Given the description of an element on the screen output the (x, y) to click on. 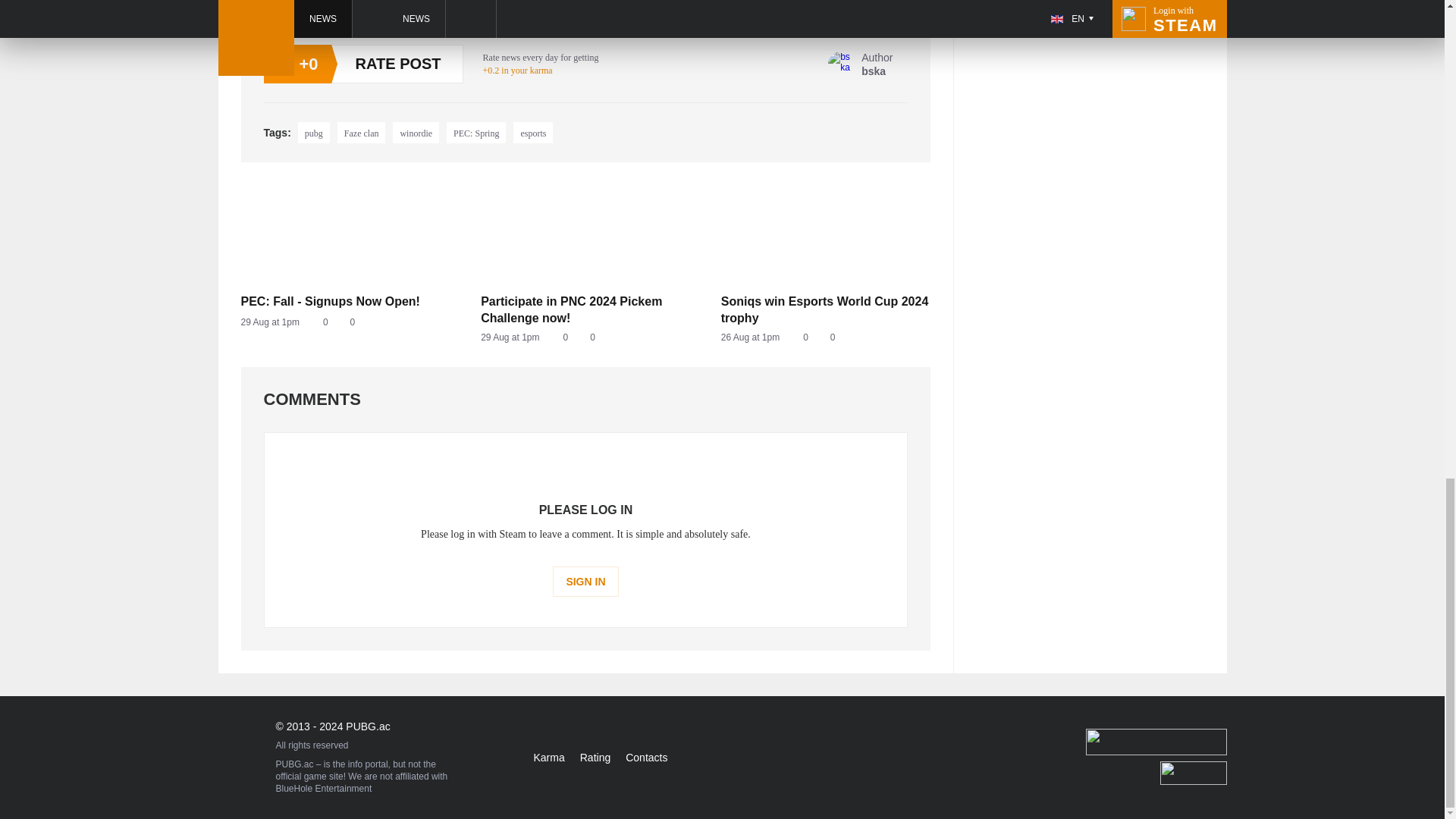
PEC: Fall - Signups Now Open! (585, 337)
PEC: Spring (346, 301)
pubg (346, 322)
Faze clan (825, 337)
SIGN IN (860, 63)
Participate in PNC 2024 Pickem Challenge now! (475, 132)
